Given the description of an element on the screen output the (x, y) to click on. 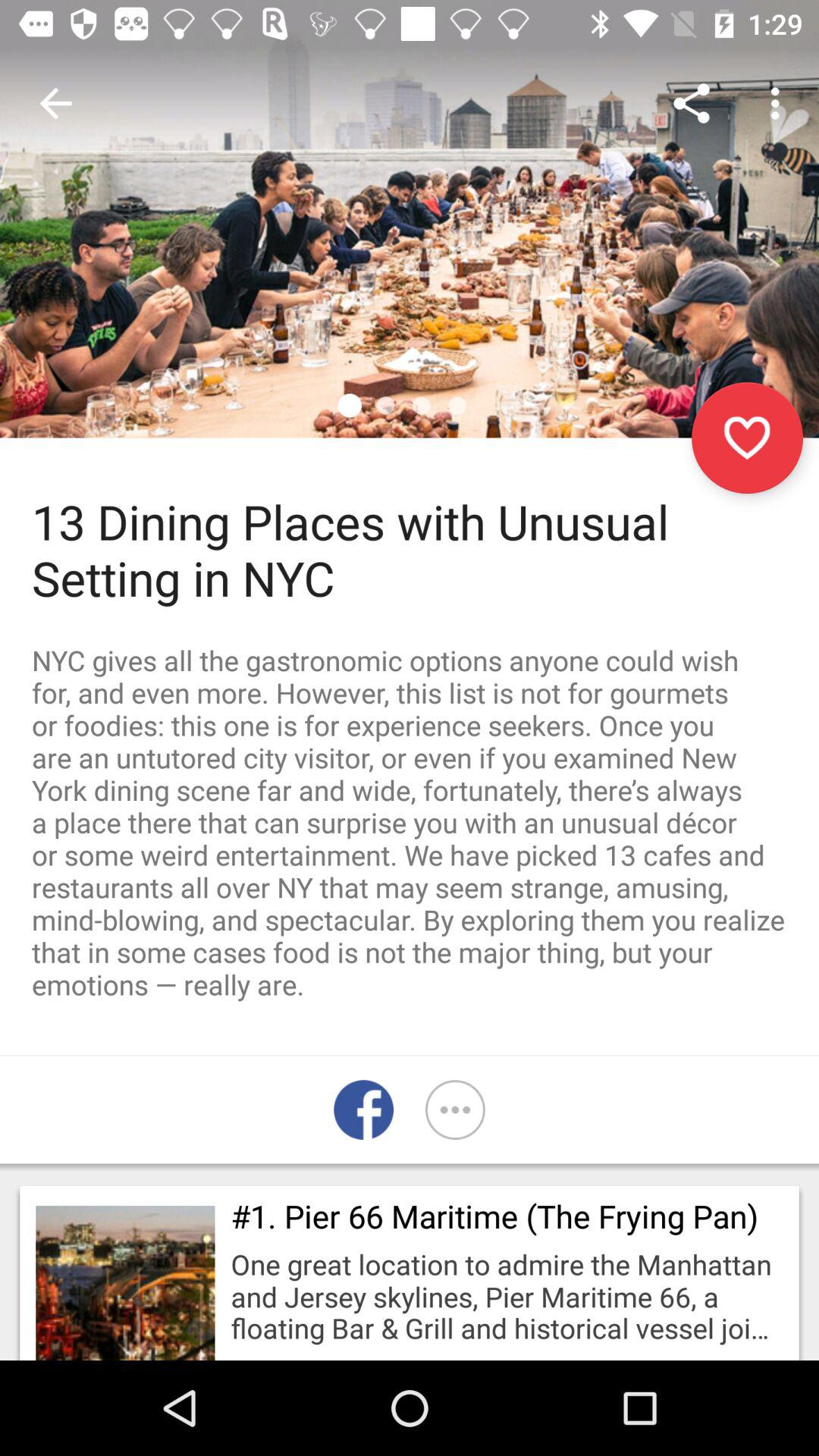
add to favorite (747, 437)
